Given the description of an element on the screen output the (x, y) to click on. 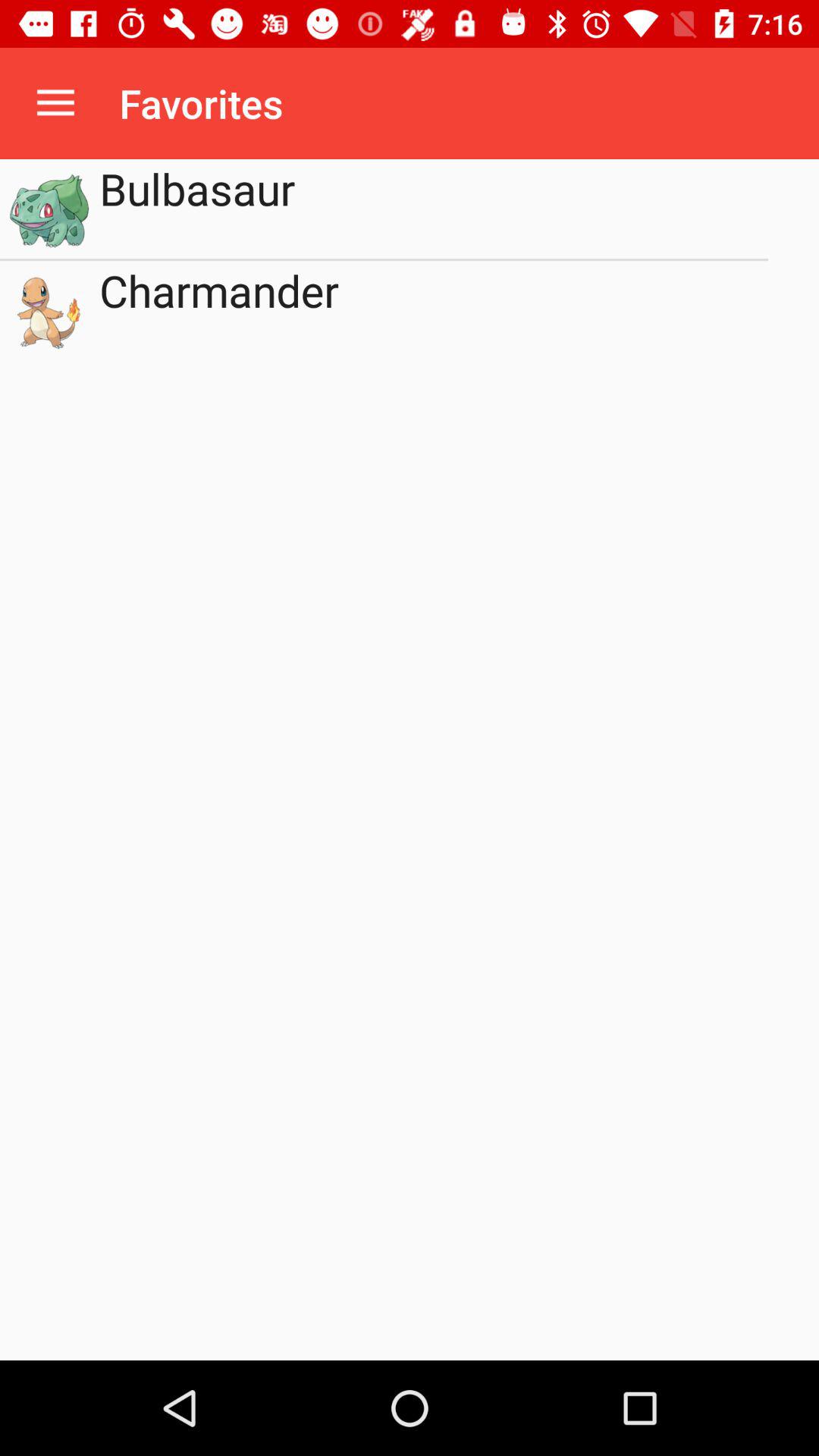
tap icon next to favorites item (55, 103)
